Given the description of an element on the screen output the (x, y) to click on. 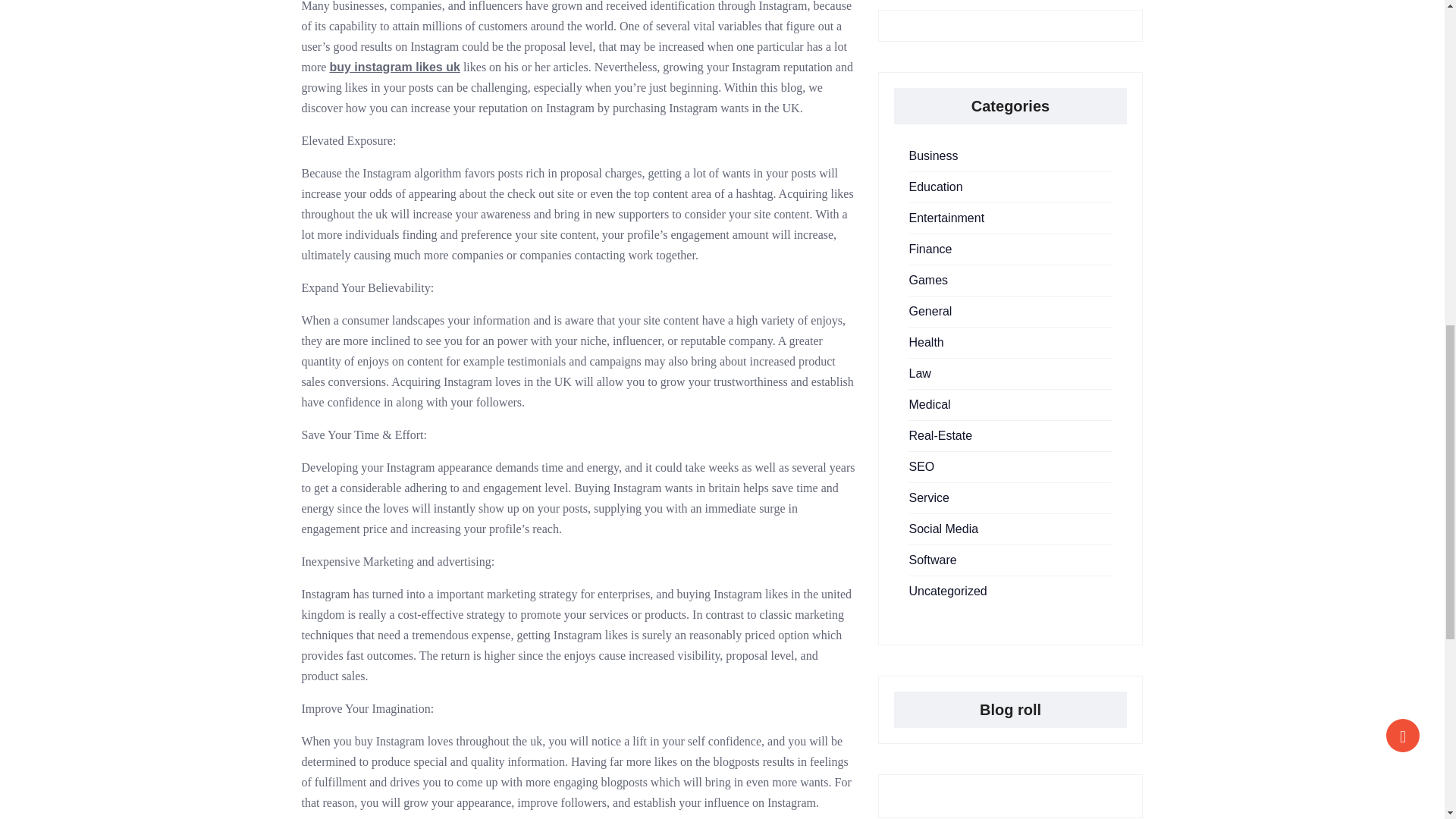
Uncategorized (947, 590)
Medical (929, 404)
Social Media (943, 528)
Business (933, 155)
buy instagram likes uk (394, 66)
SEO (921, 466)
Finance (930, 248)
Entertainment (946, 217)
Health (925, 341)
Software (932, 559)
Law (919, 373)
General (930, 310)
Education (935, 186)
Real-Estate (940, 435)
Service (928, 497)
